Given the description of an element on the screen output the (x, y) to click on. 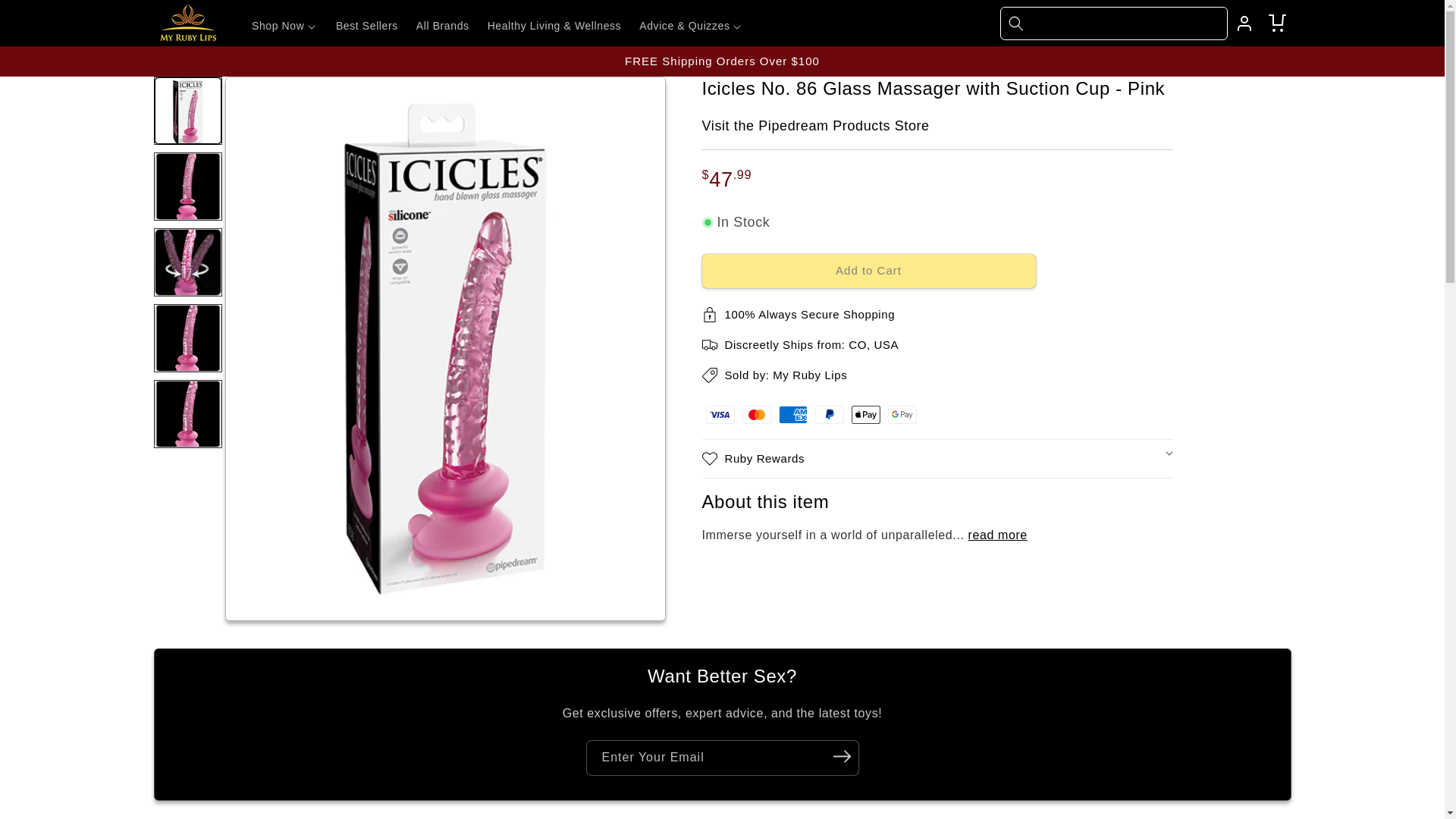
Skip to content (45, 16)
Skip to content (45, 16)
